Given the description of an element on the screen output the (x, y) to click on. 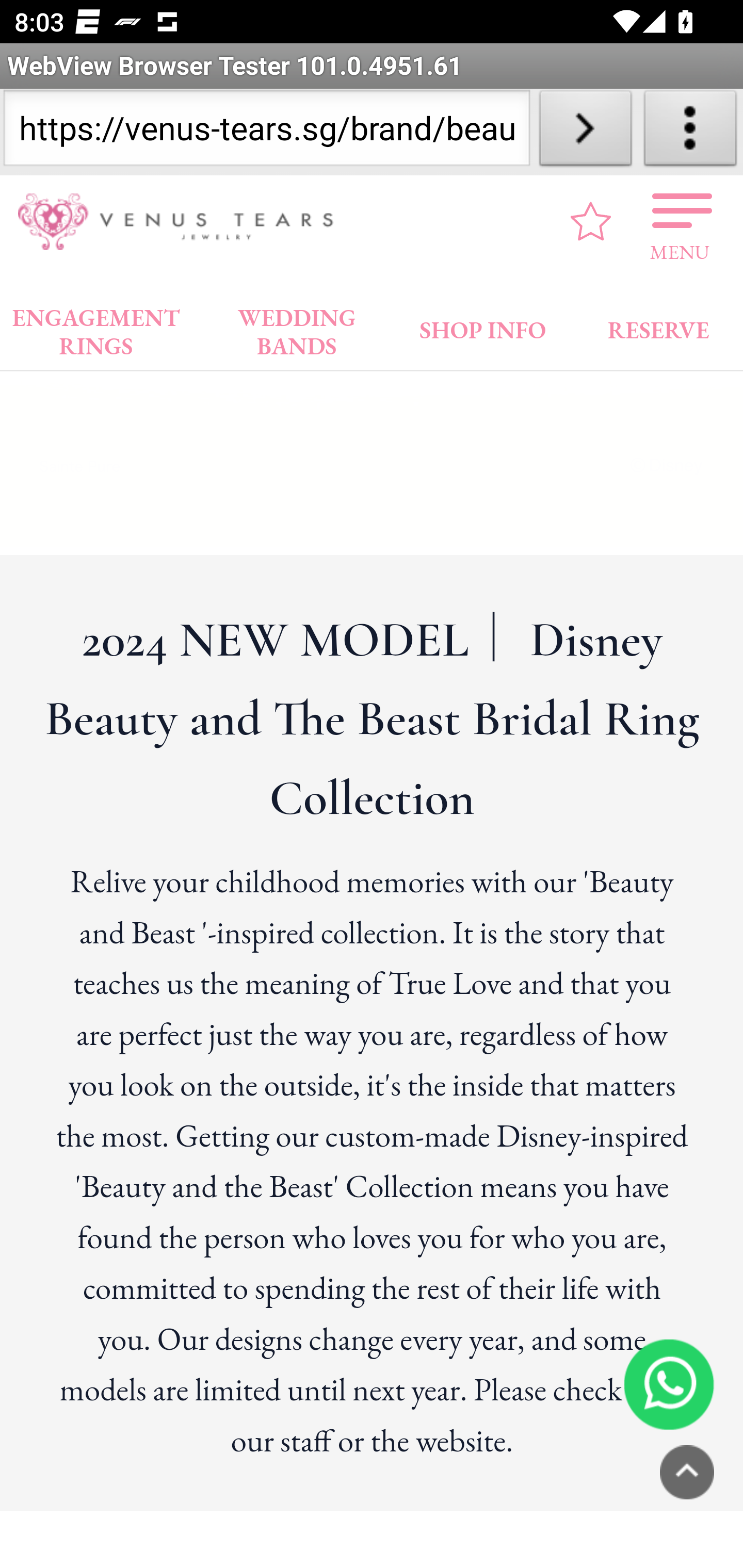
Load URL (585, 132)
About WebView (690, 132)
favourite (591, 223)
MENU (680, 223)
VENUS TEARS (181, 223)
ENGAGEMENT RINGS ENGAGEMENT RINGS (96, 328)
WEDDING BANDS WEDDING BANDS (296, 328)
SHOP INFO (482, 327)
RESERVE (657, 327)
6585184875 (668, 1385)
PAGETOP (686, 1473)
